Given the description of an element on the screen output the (x, y) to click on. 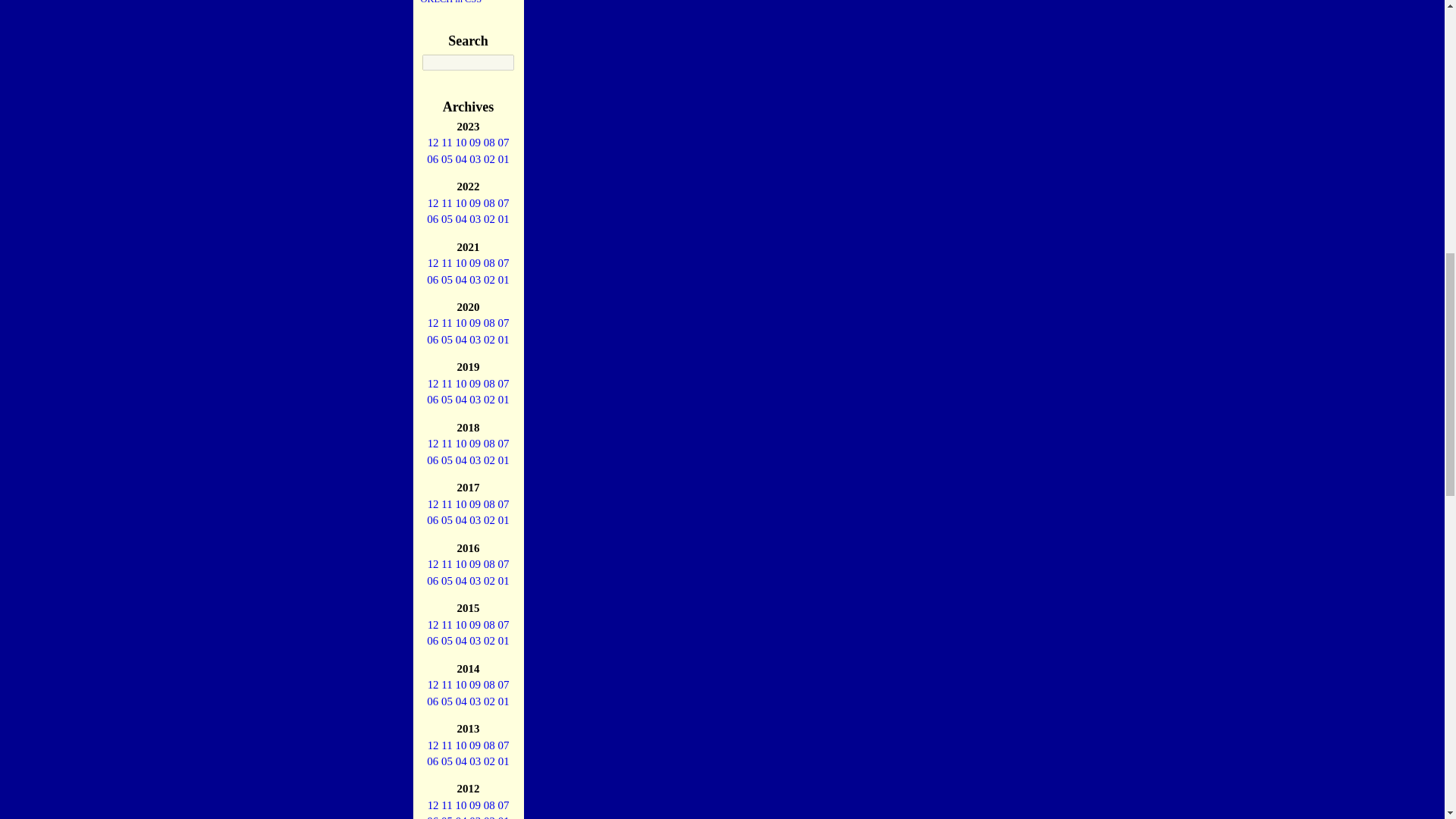
OKLCH in CSS (450, 2)
01 (503, 159)
09 (474, 142)
12 (433, 203)
08 (489, 142)
09 (474, 203)
10 (459, 142)
03 (474, 159)
10 (459, 203)
02 (489, 159)
04 (461, 159)
06 (432, 159)
05 (446, 159)
12 (433, 142)
07 (502, 142)
